Given the description of an element on the screen output the (x, y) to click on. 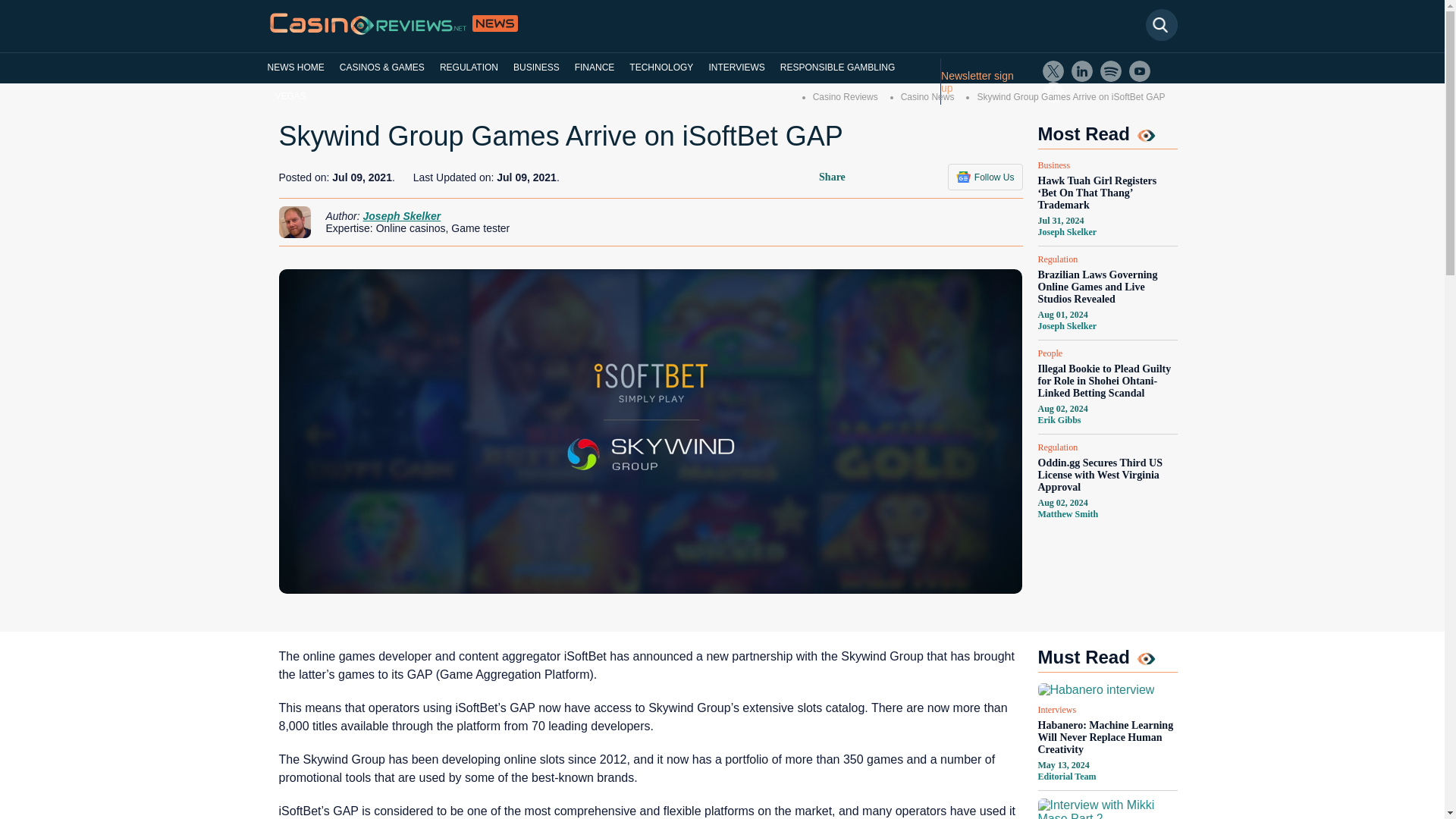
BUSINESS (536, 67)
Casino News (928, 96)
FINANCE (595, 67)
Joseph Skelker (1066, 231)
TECHNOLOGY (660, 67)
RESPONSIBLE GAMBLING (837, 67)
INTERVIEWS (735, 67)
LinkedIn (1082, 70)
Joseph Skelker (1066, 326)
